Given the description of an element on the screen output the (x, y) to click on. 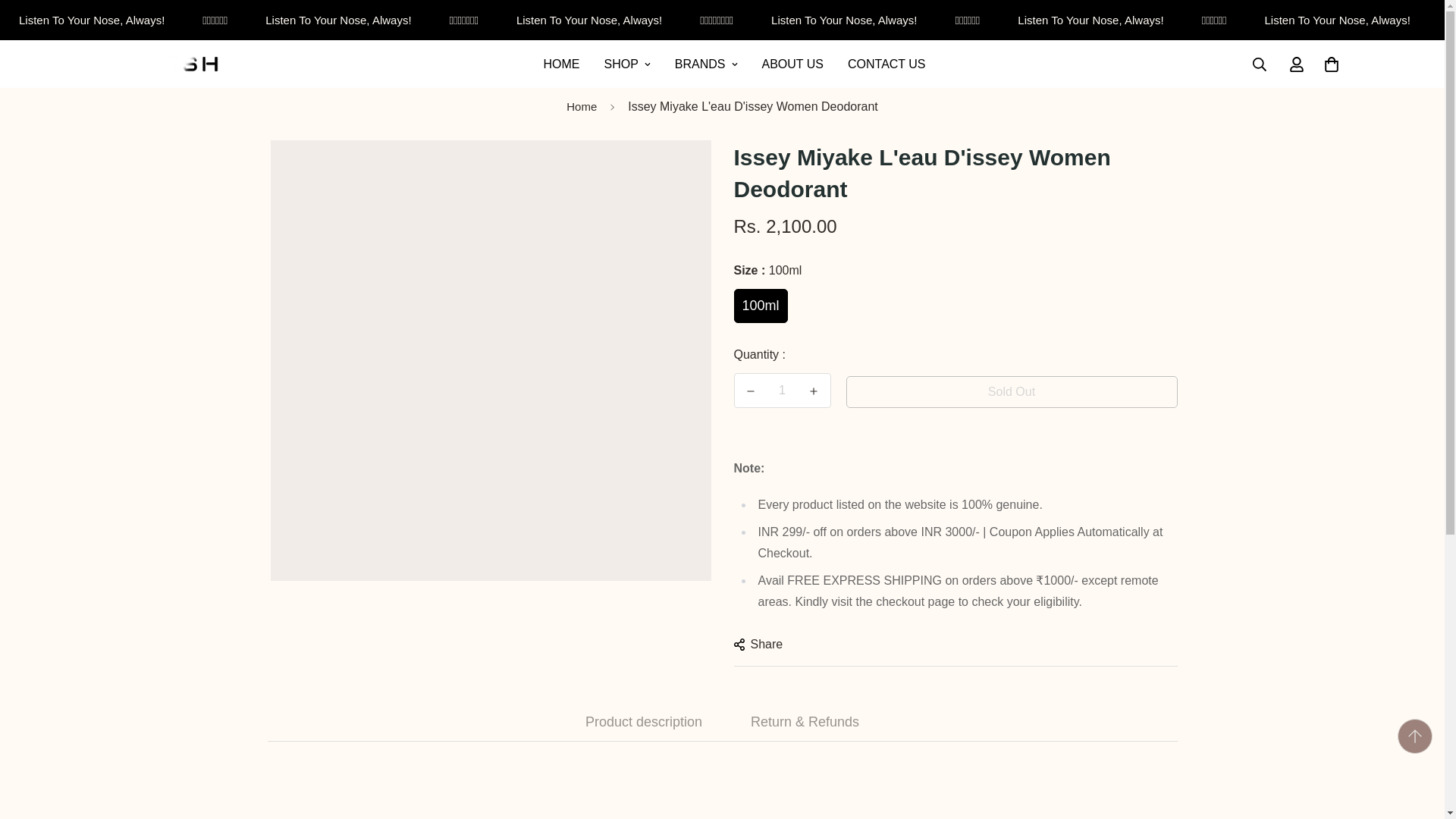
Belvish (161, 63)
HOME (561, 63)
Back to the home page (581, 107)
SHOP (626, 63)
1 (782, 390)
BRANDS (705, 63)
